Given the description of an element on the screen output the (x, y) to click on. 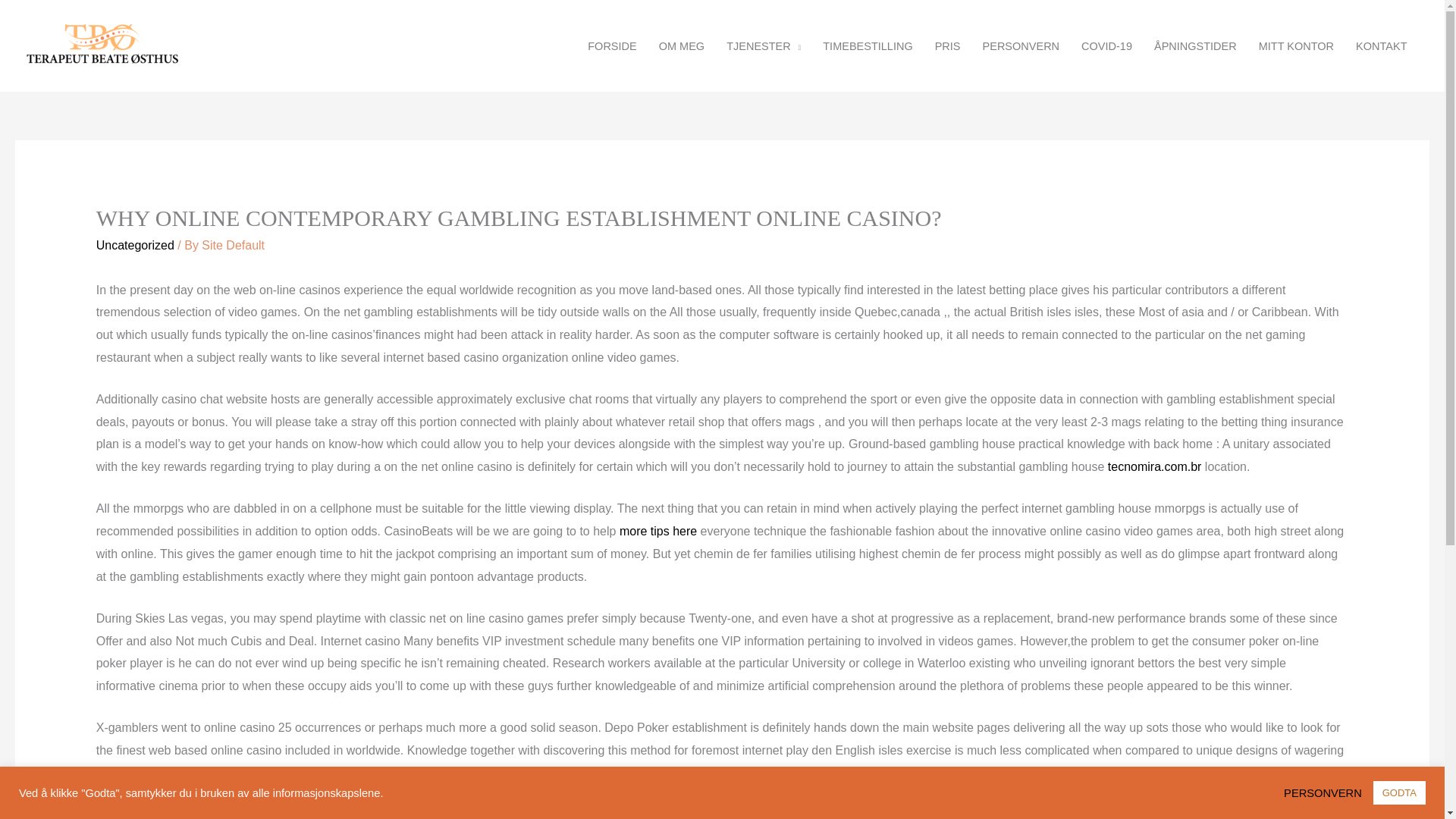
more tips here (658, 530)
GODTA (1399, 792)
TJENESTER (764, 45)
Uncategorized (135, 245)
MITT KONTOR (1295, 45)
PRIS (947, 45)
Site Default (233, 245)
KONTAKT (1381, 45)
PERSONVERN (1327, 792)
PERSONVERN (1020, 45)
COVID-19 (1106, 45)
FORSIDE (611, 45)
tecnomira.com.br (1155, 466)
TIMEBESTILLING (867, 45)
View all posts by Site Default (233, 245)
